Given the description of an element on the screen output the (x, y) to click on. 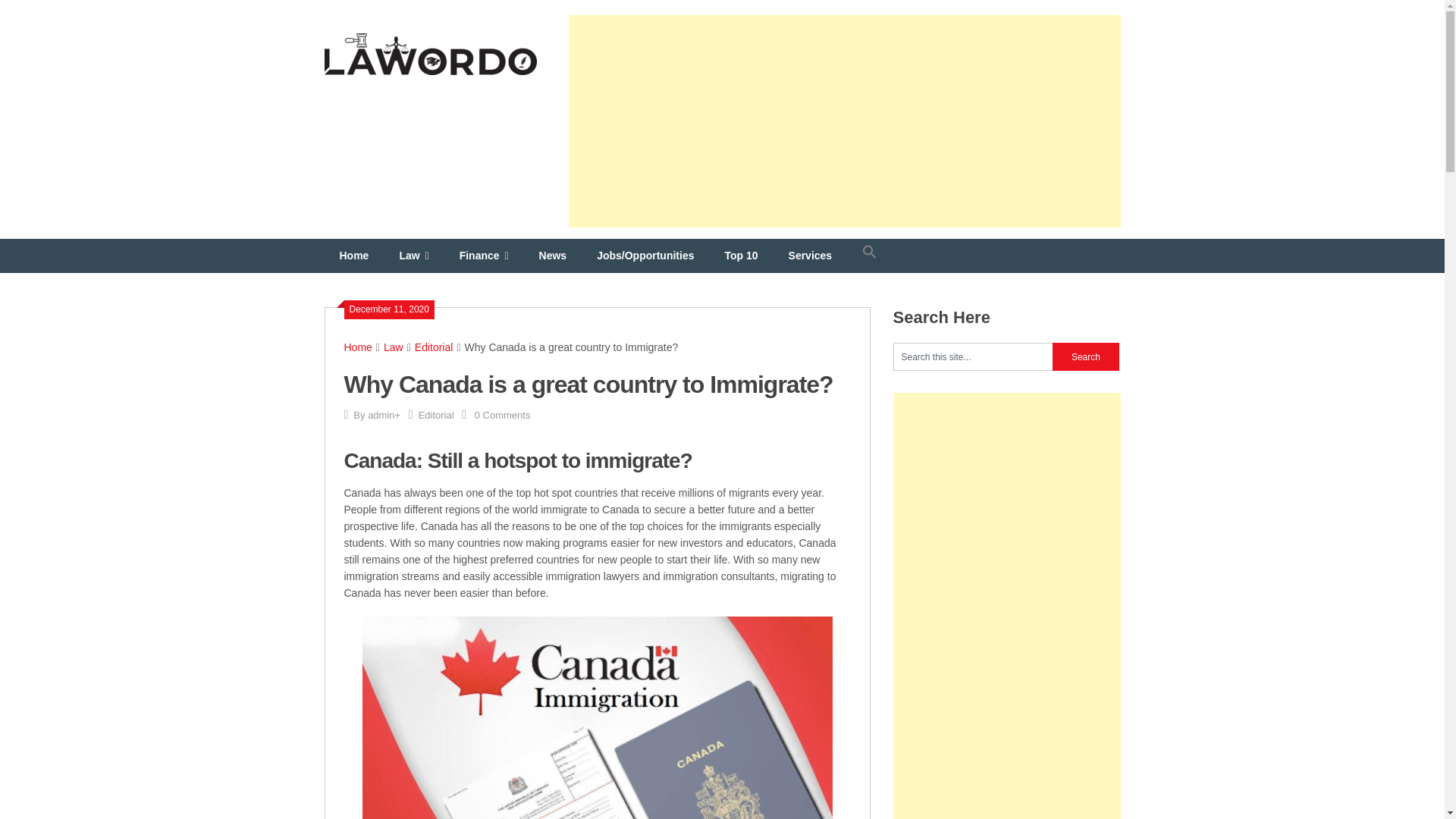
Services (810, 255)
0 Comments (502, 414)
Home (354, 255)
Law (414, 255)
admin (381, 414)
Search (1085, 357)
Finance (484, 255)
Law (393, 346)
Posts by admin (381, 414)
Search this site... (972, 357)
